Given the description of an element on the screen output the (x, y) to click on. 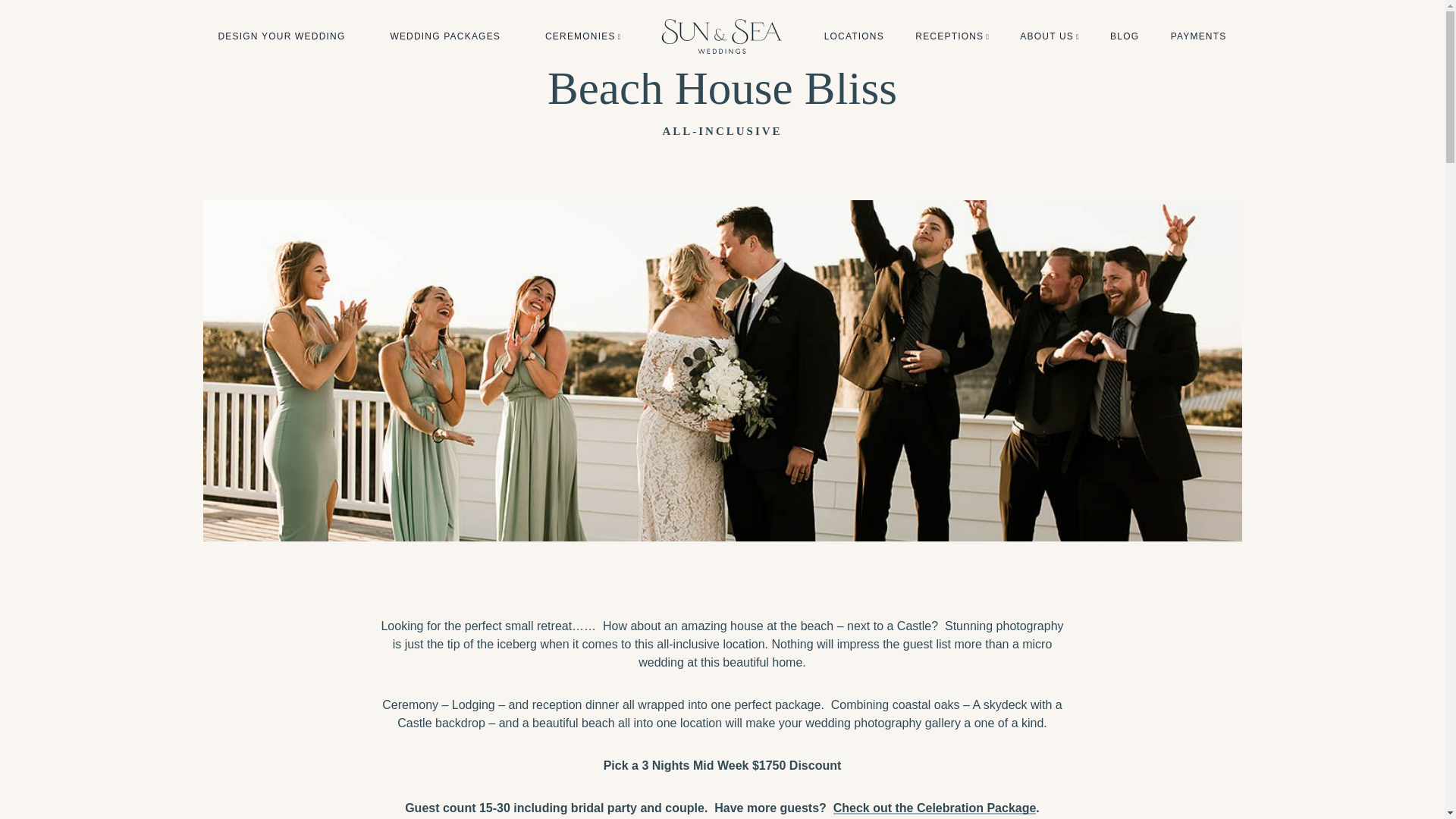
BLOG (1123, 36)
WEDDING PACKAGES (445, 36)
DESIGN YOUR WEDDING (282, 36)
Check out the Celebration Package (934, 807)
ABOUT US (1047, 36)
RECEPTIONS (949, 36)
CEREMONIES (579, 36)
LOCATIONS (853, 36)
PAYMENTS (1198, 36)
